Given the description of an element on the screen output the (x, y) to click on. 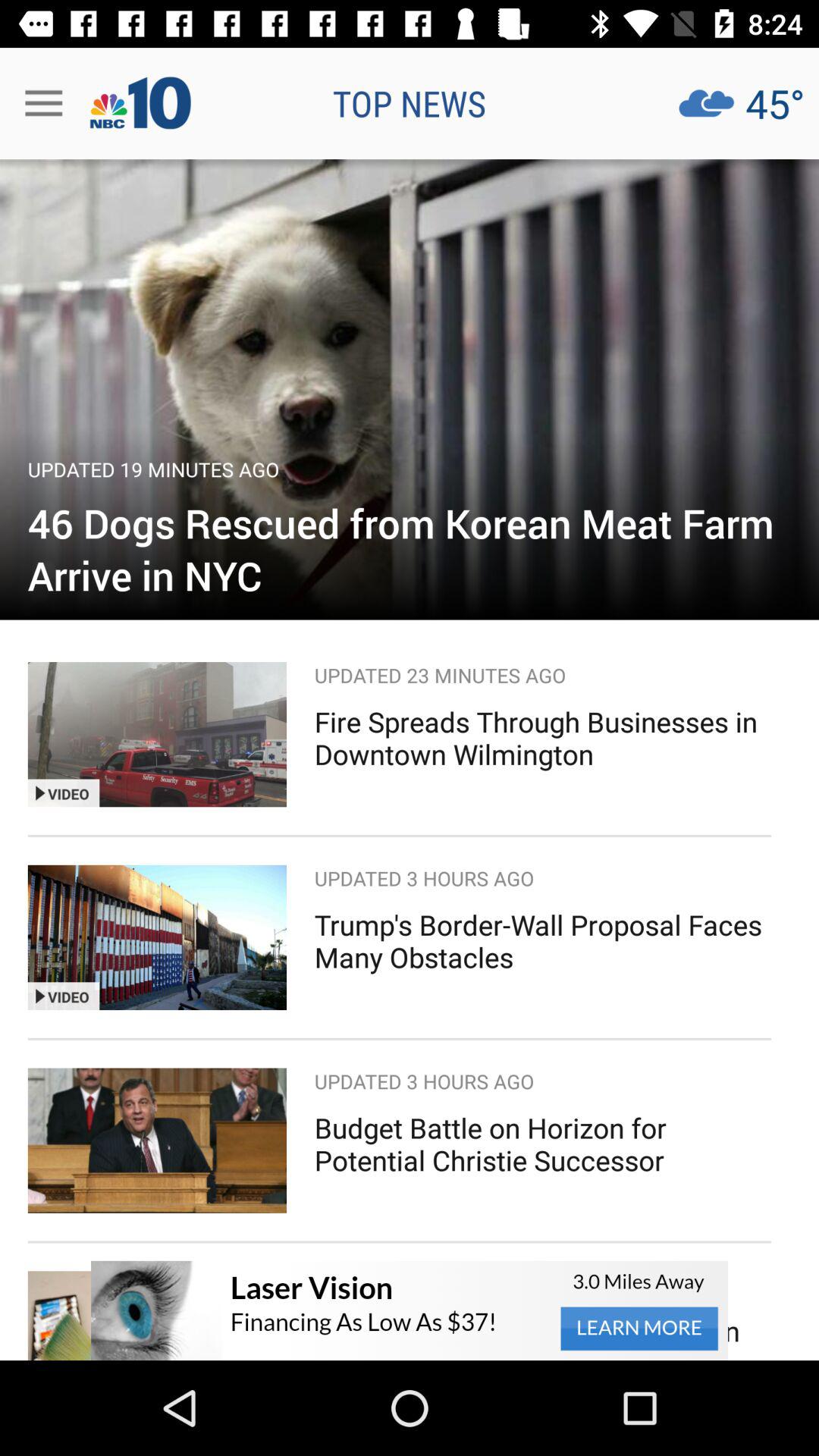
flip until the top news item (409, 103)
